Given the description of an element on the screen output the (x, y) to click on. 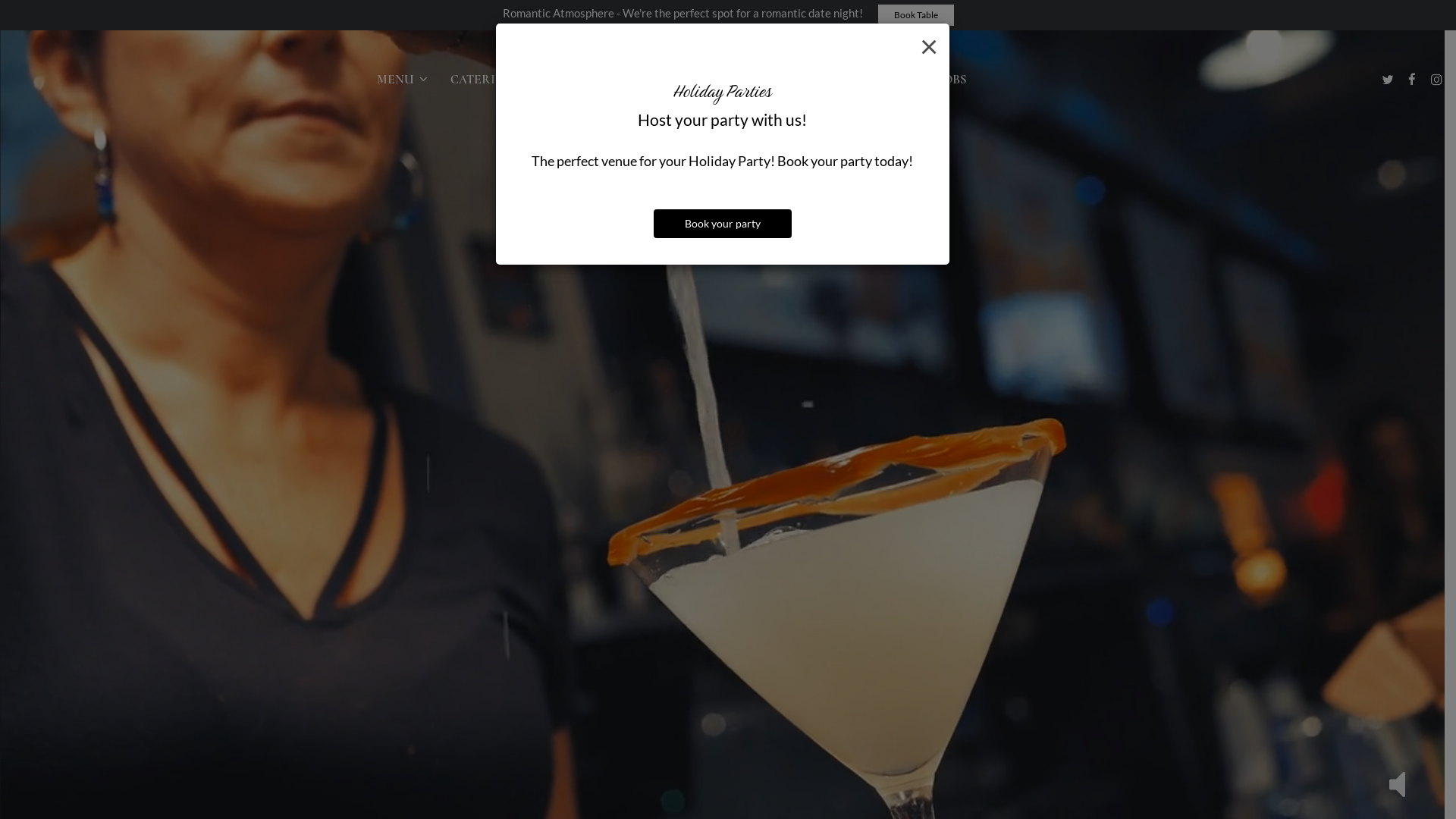
JOBS Element type: text (952, 79)
CATERING Element type: text (481, 79)
PARTIES Element type: text (638, 79)
EVENTS Element type: text (815, 79)
RESERVE Element type: text (888, 79)
Book Table Element type: text (915, 14)
MENU Element type: text (402, 79)
SPECIALS Element type: text (563, 79)
Book your party Element type: text (722, 223)
